Given the description of an element on the screen output the (x, y) to click on. 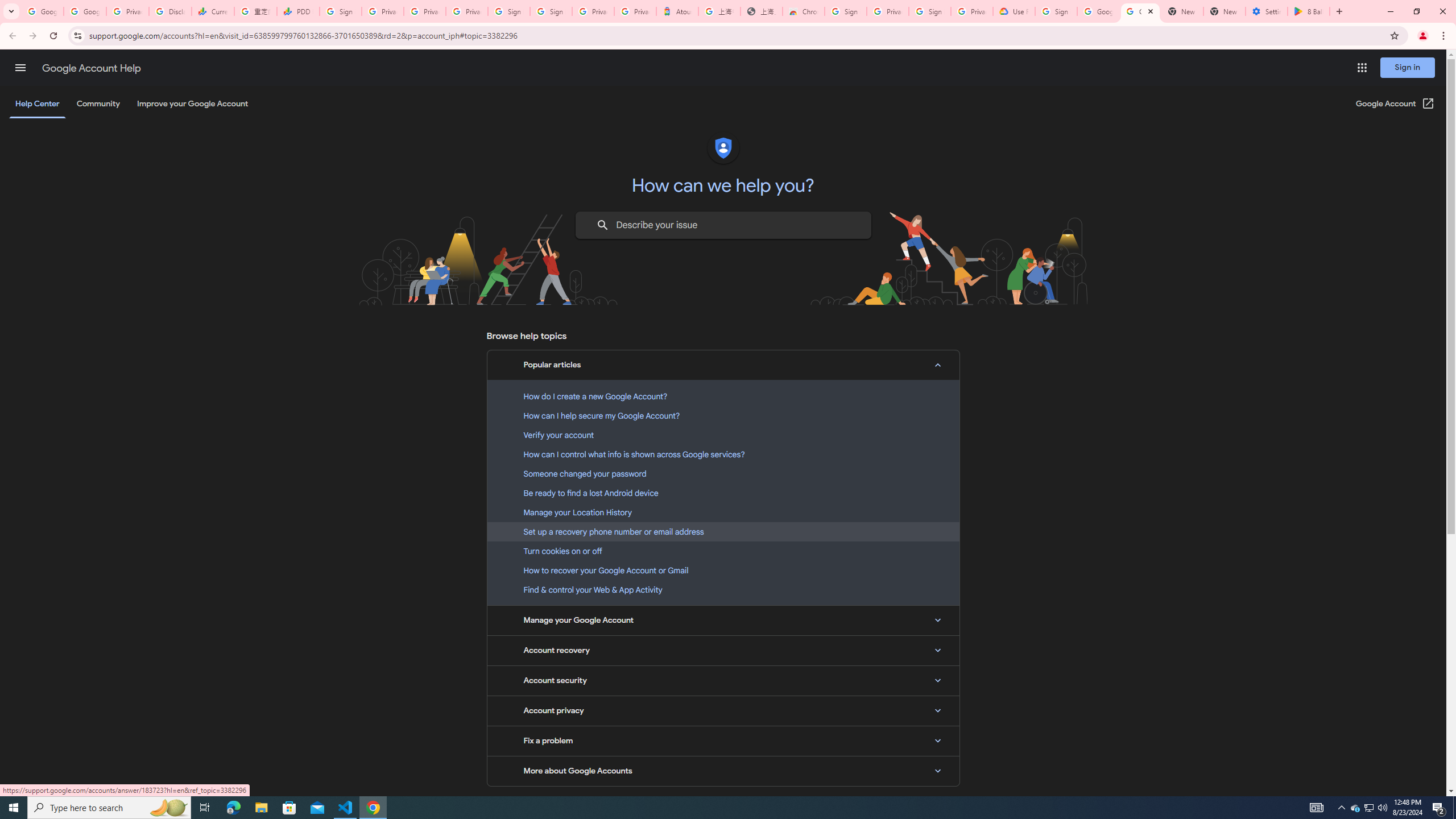
Account privacy (722, 710)
Atour Hotel - Google hotels (676, 11)
Google Account Help (91, 68)
Settings - System (1266, 11)
How to recover your Google Account or Gmail (722, 570)
More about Google Accounts (722, 771)
